Given the description of an element on the screen output the (x, y) to click on. 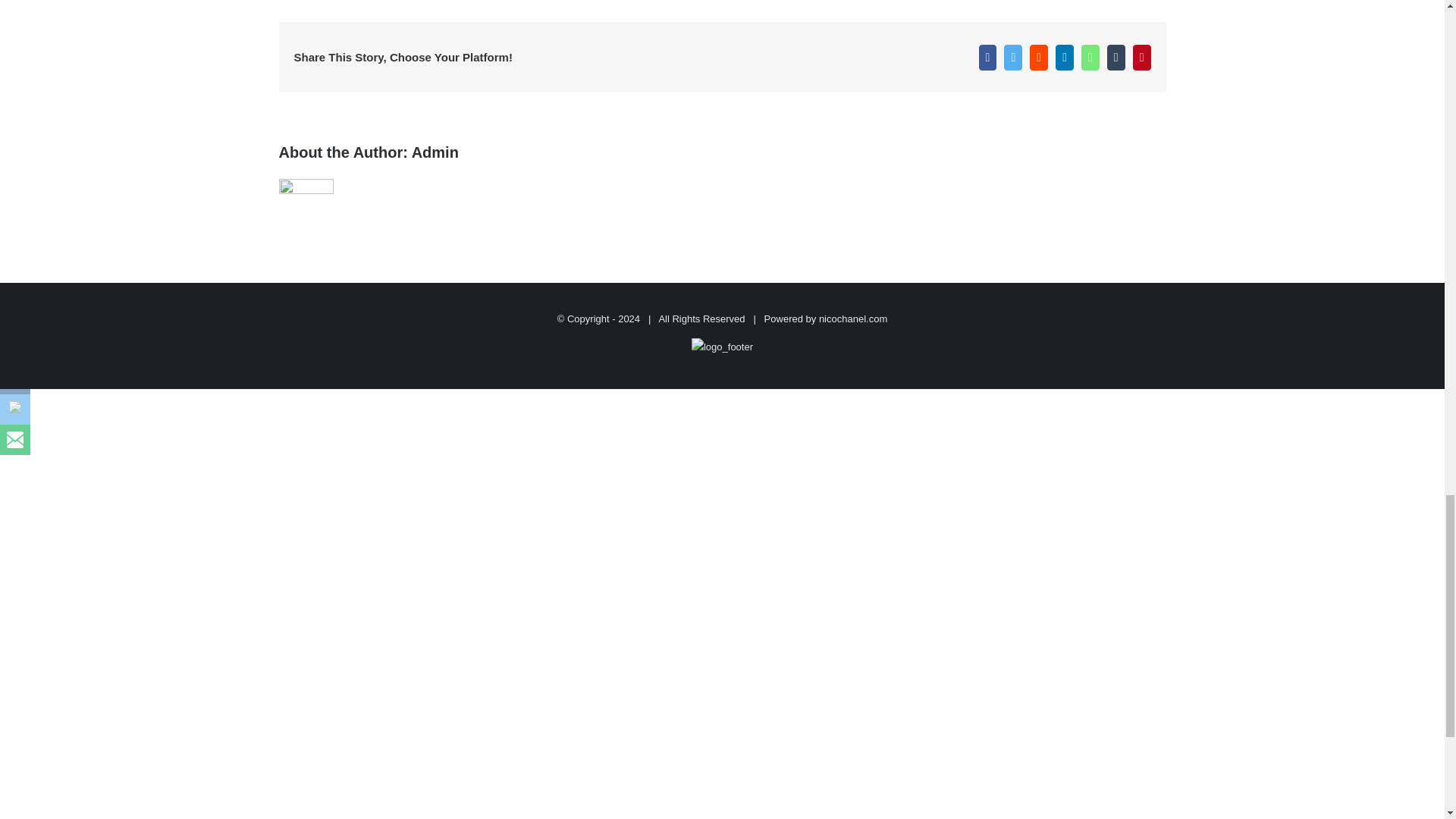
nicochanel.com (852, 317)
Posts by Admin (435, 152)
Admin (435, 152)
